Given the description of an element on the screen output the (x, y) to click on. 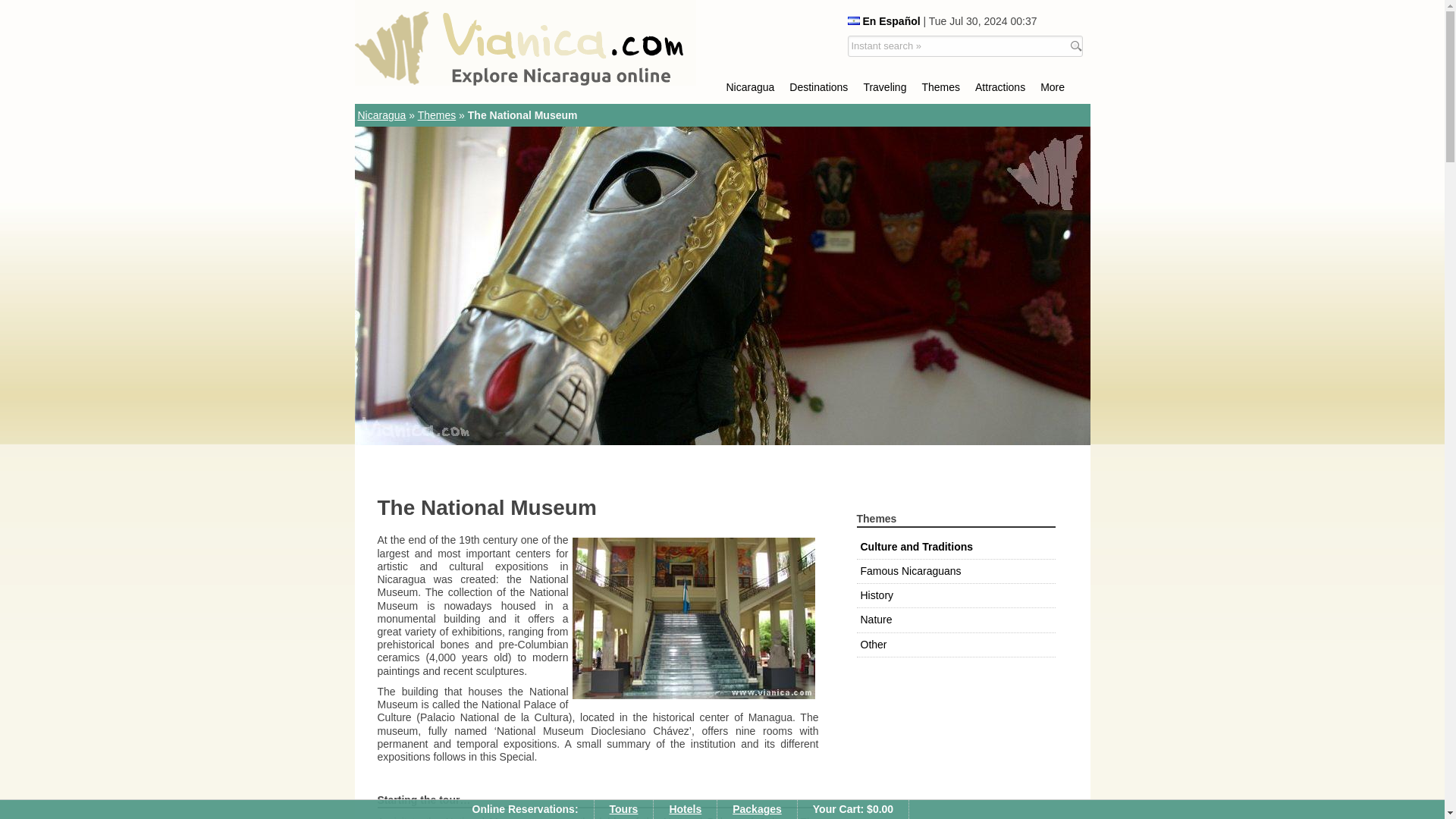
Nicaragua (751, 87)
Destinations (818, 87)
